Given the description of an element on the screen output the (x, y) to click on. 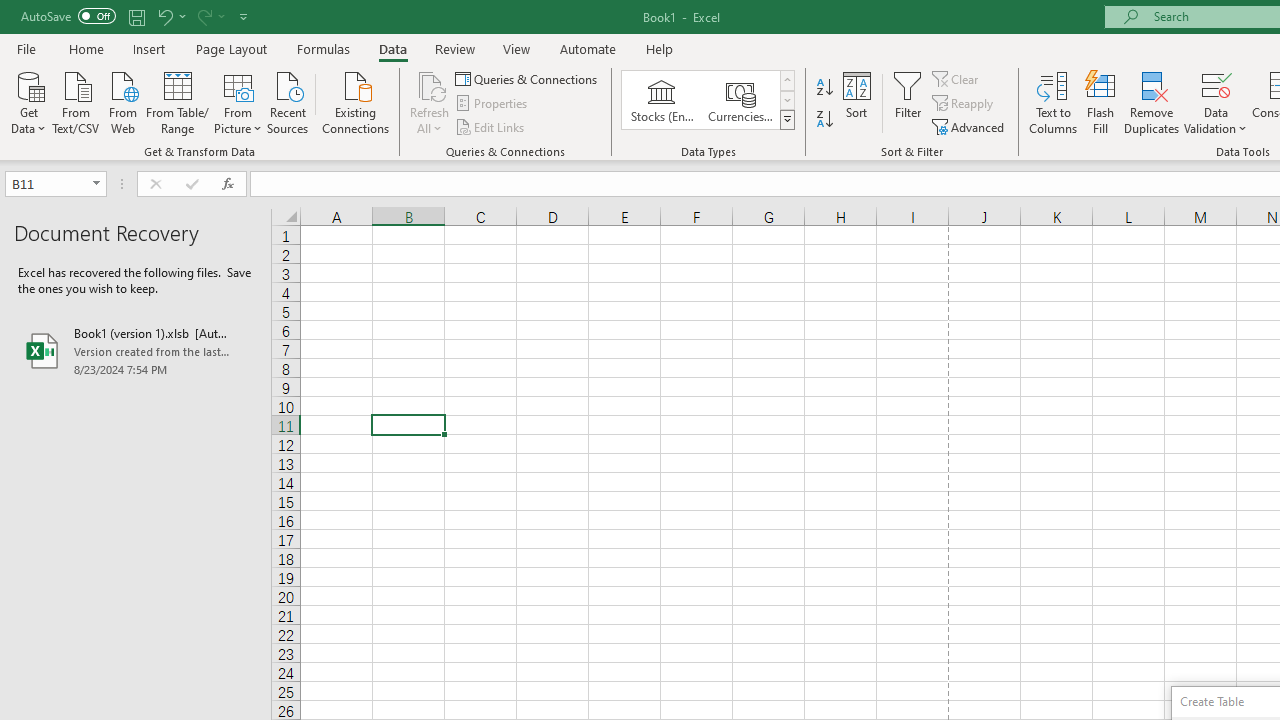
Properties (492, 103)
AutomationID: ConvertToLinkedEntity (708, 99)
Class: NetUIImage (787, 119)
Refresh All (429, 102)
Get Data (28, 101)
Text to Columns... (1053, 102)
Flash Fill (1101, 102)
Remove Duplicates (1151, 102)
From Web (122, 101)
Existing Connections (355, 101)
